Given the description of an element on the screen output the (x, y) to click on. 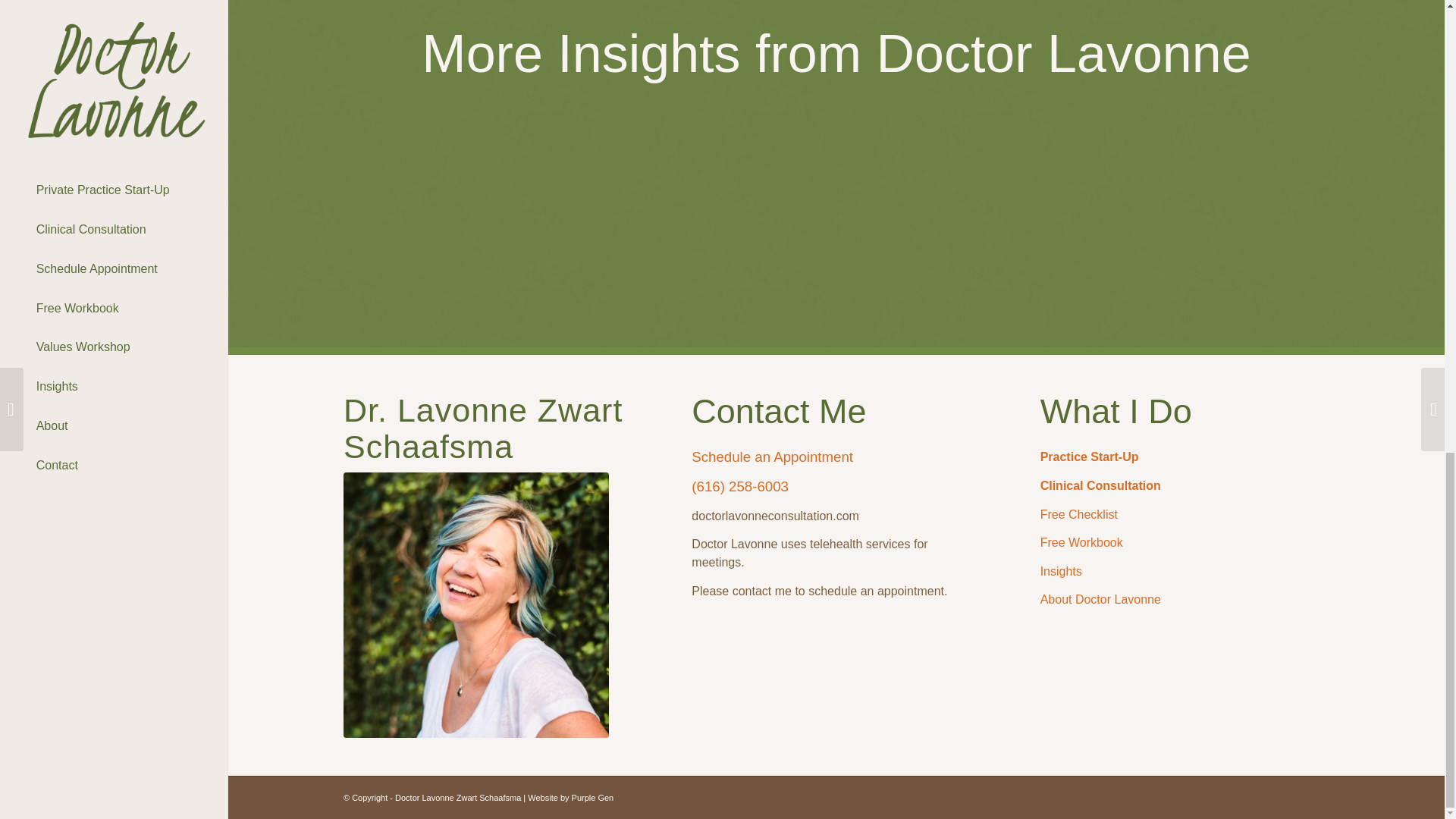
Schedule an Appointment (772, 456)
Free Checklist (1079, 513)
Free Workbook (1081, 542)
Lavonne Schaafsma (475, 604)
Insights (1061, 571)
Purple Gen (593, 797)
About Doctor Lavonne (1100, 599)
Practice Start-Up  (1091, 456)
Clinical Consultation (1100, 485)
